Given the description of an element on the screen output the (x, y) to click on. 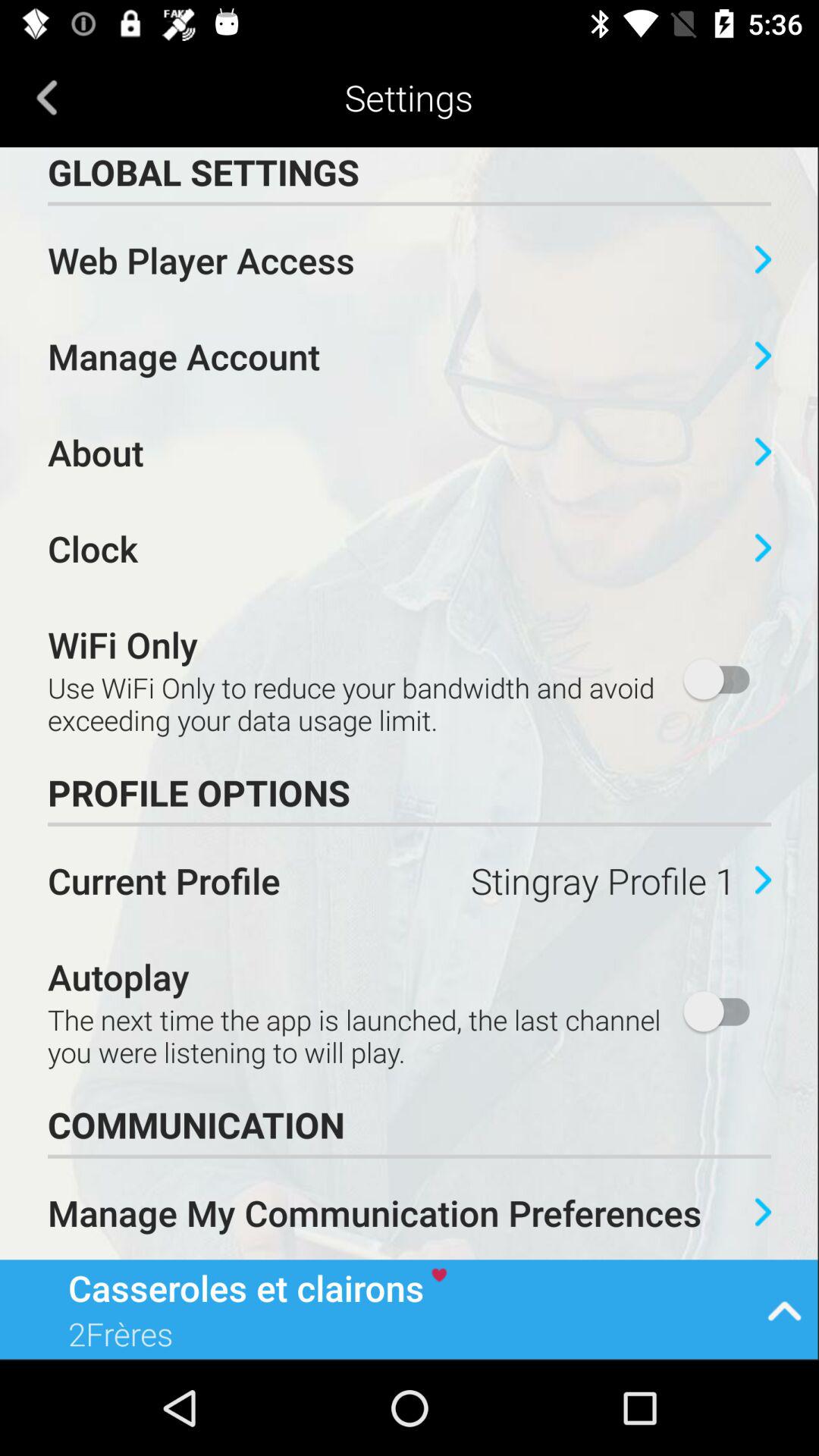
choose item to the left of the settings (47, 97)
